Given the description of an element on the screen output the (x, y) to click on. 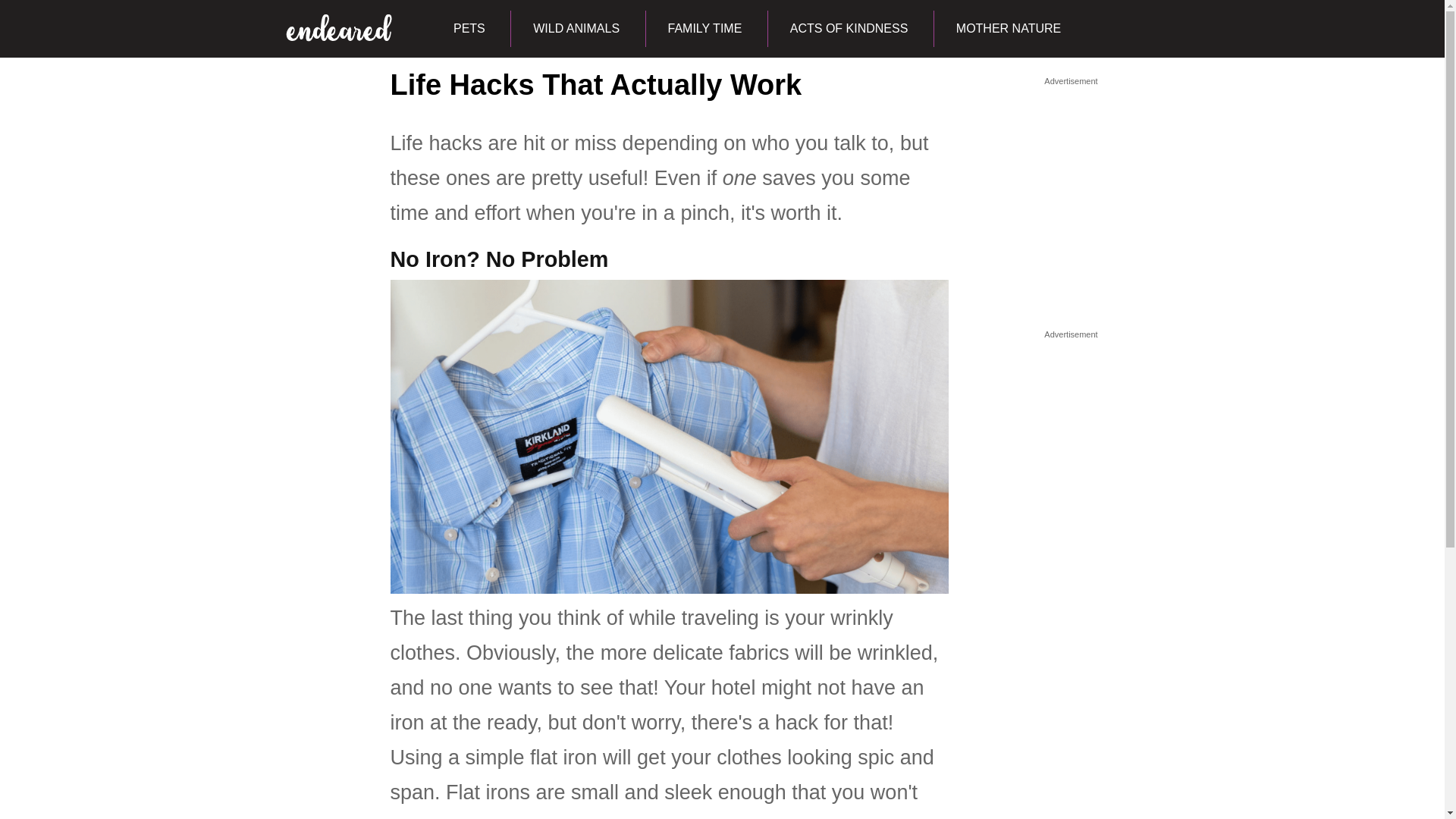
MOTHER NATURE (1008, 28)
ACTS OF KINDNESS (848, 28)
PETS (468, 28)
WILD ANIMALS (576, 28)
FAMILY TIME (704, 28)
